Given the description of an element on the screen output the (x, y) to click on. 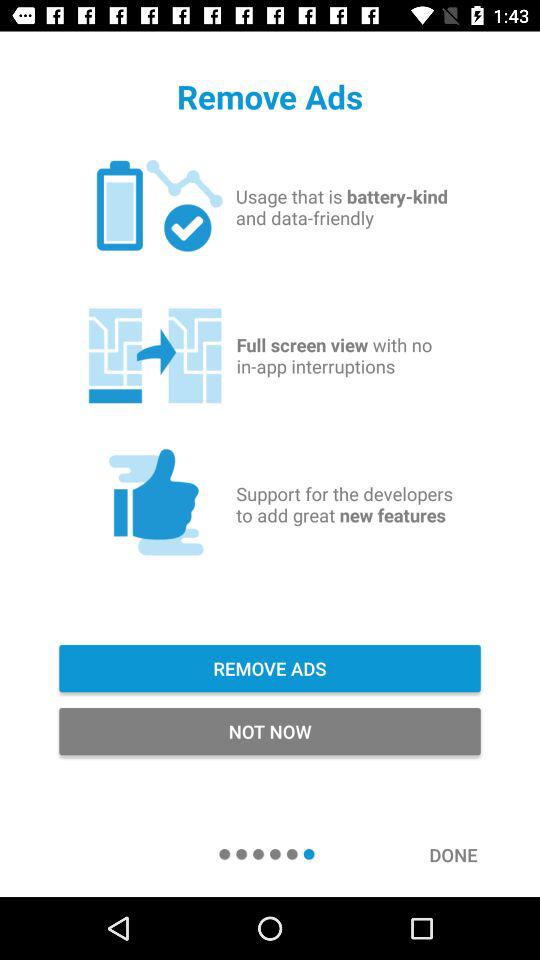
scroll until not now item (269, 731)
